Given the description of an element on the screen output the (x, y) to click on. 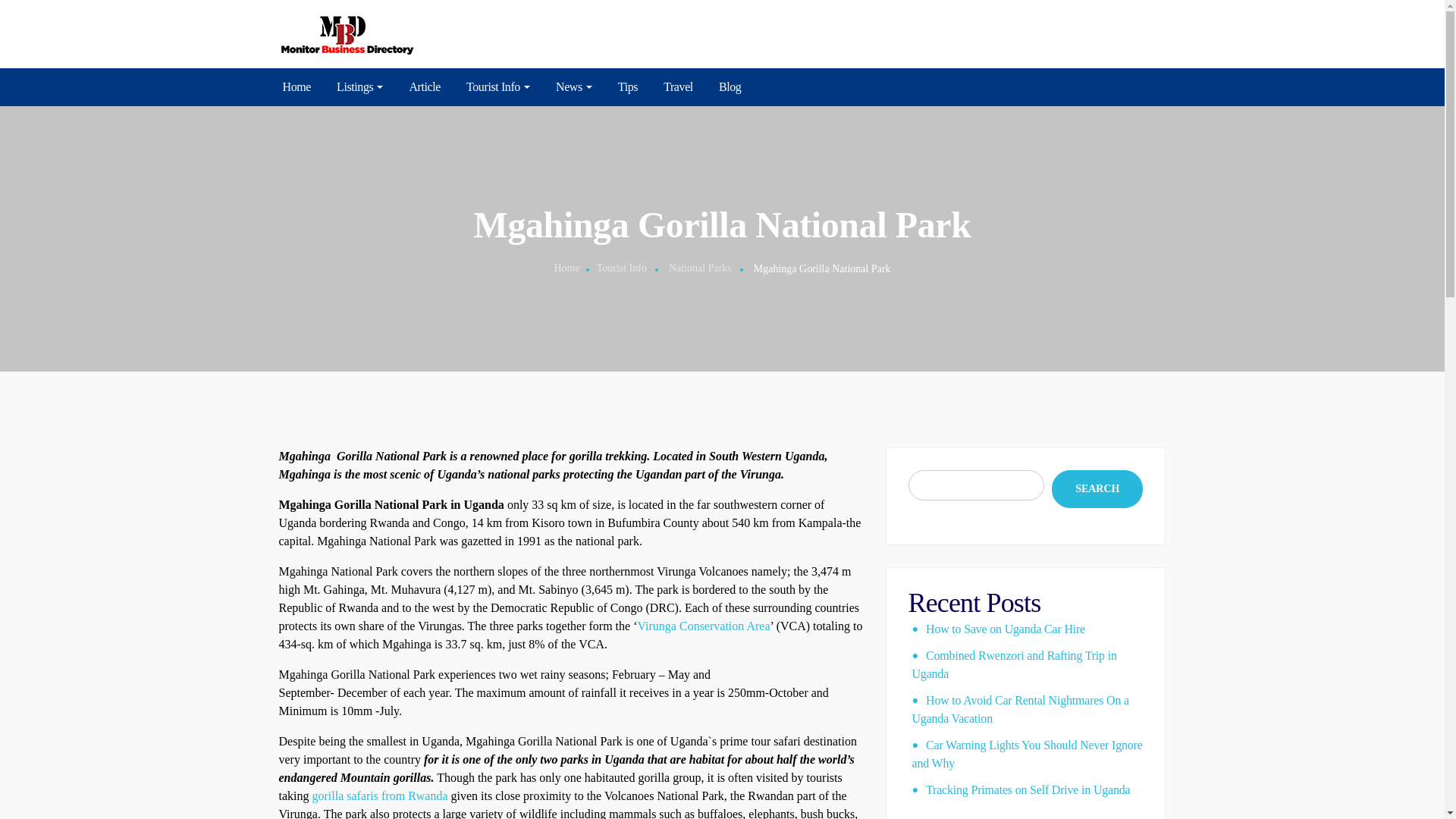
Tourist Info (621, 267)
National Parks (700, 267)
News (574, 86)
SEARCH (1096, 488)
Tourist Info (497, 86)
Home (296, 86)
Listings (359, 86)
Home (566, 267)
Article (423, 86)
Tips (627, 86)
Virunga Conservation Area (703, 625)
Travel (677, 86)
How to Save on Uganda Car Hire (1005, 628)
Blog (730, 86)
gorilla safaris from Rwanda (380, 795)
